Given the description of an element on the screen output the (x, y) to click on. 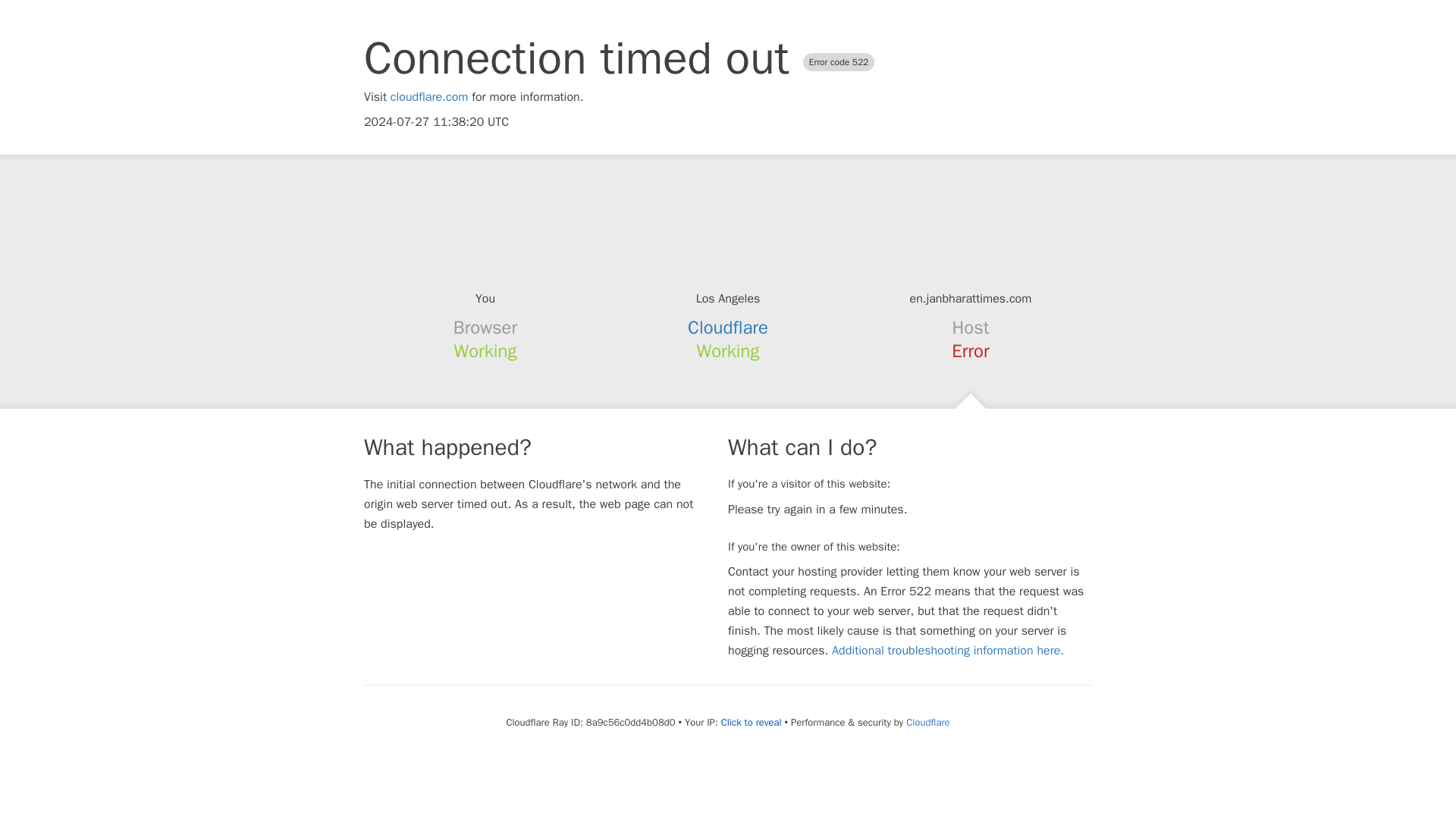
Click to reveal (750, 722)
Cloudflare (927, 721)
Additional troubleshooting information here. (947, 650)
cloudflare.com (429, 96)
Cloudflare (727, 327)
